Given the description of an element on the screen output the (x, y) to click on. 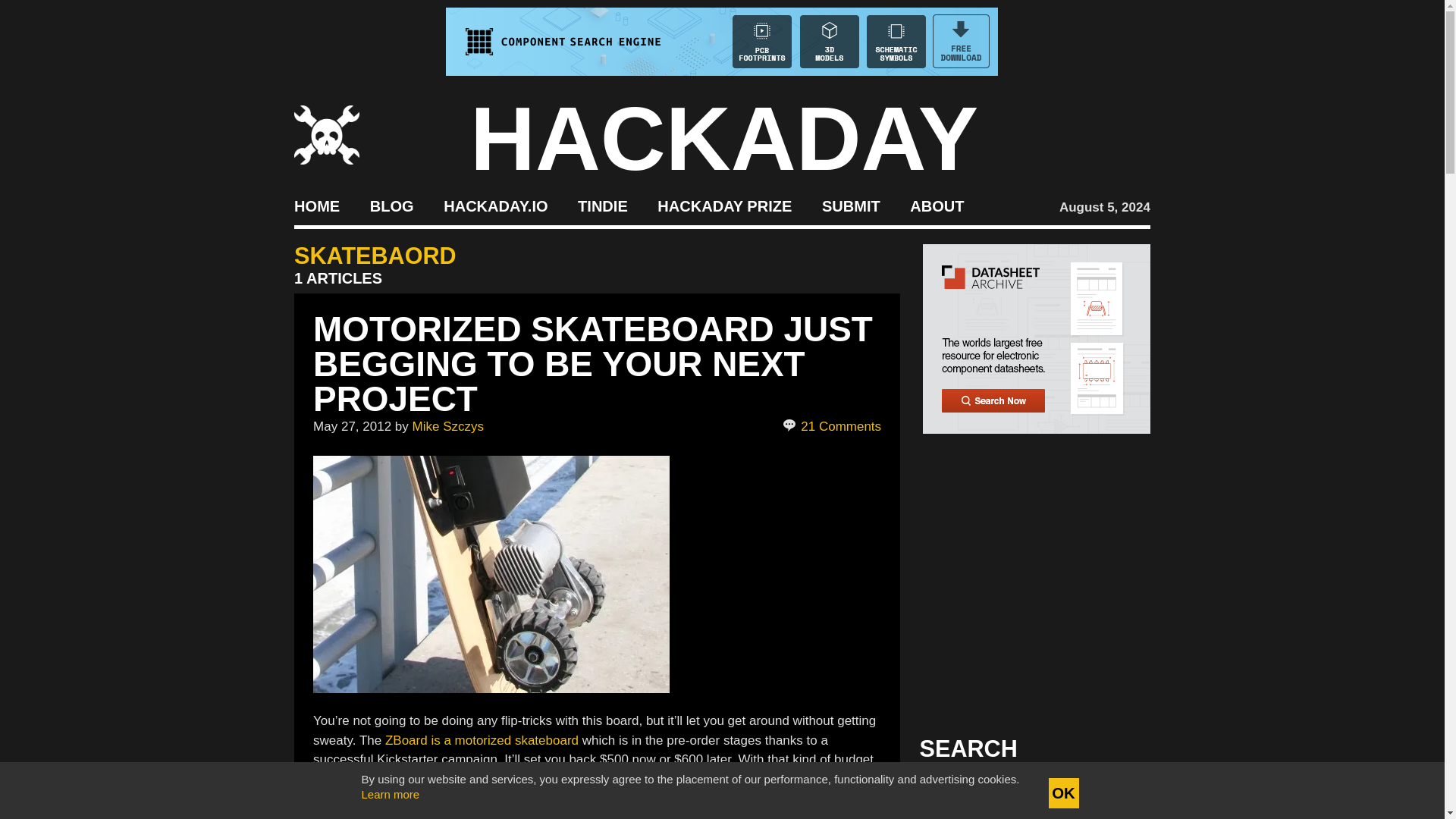
TINDIE (602, 205)
Build Something that Matters (725, 205)
SUBMIT (851, 205)
HACKADAY.IO (495, 205)
Mike Szczys (447, 426)
BLOG (391, 205)
HOME (316, 205)
zboard-motorized-skateboard (491, 573)
HACKADAY (724, 138)
May 27, 2012 (352, 426)
ZBoard is a motorized skateboard (481, 740)
HACKADAY PRIZE (725, 205)
Search (1115, 792)
May 27, 2012 - 10:01 am (352, 426)
Search (1115, 792)
